Given the description of an element on the screen output the (x, y) to click on. 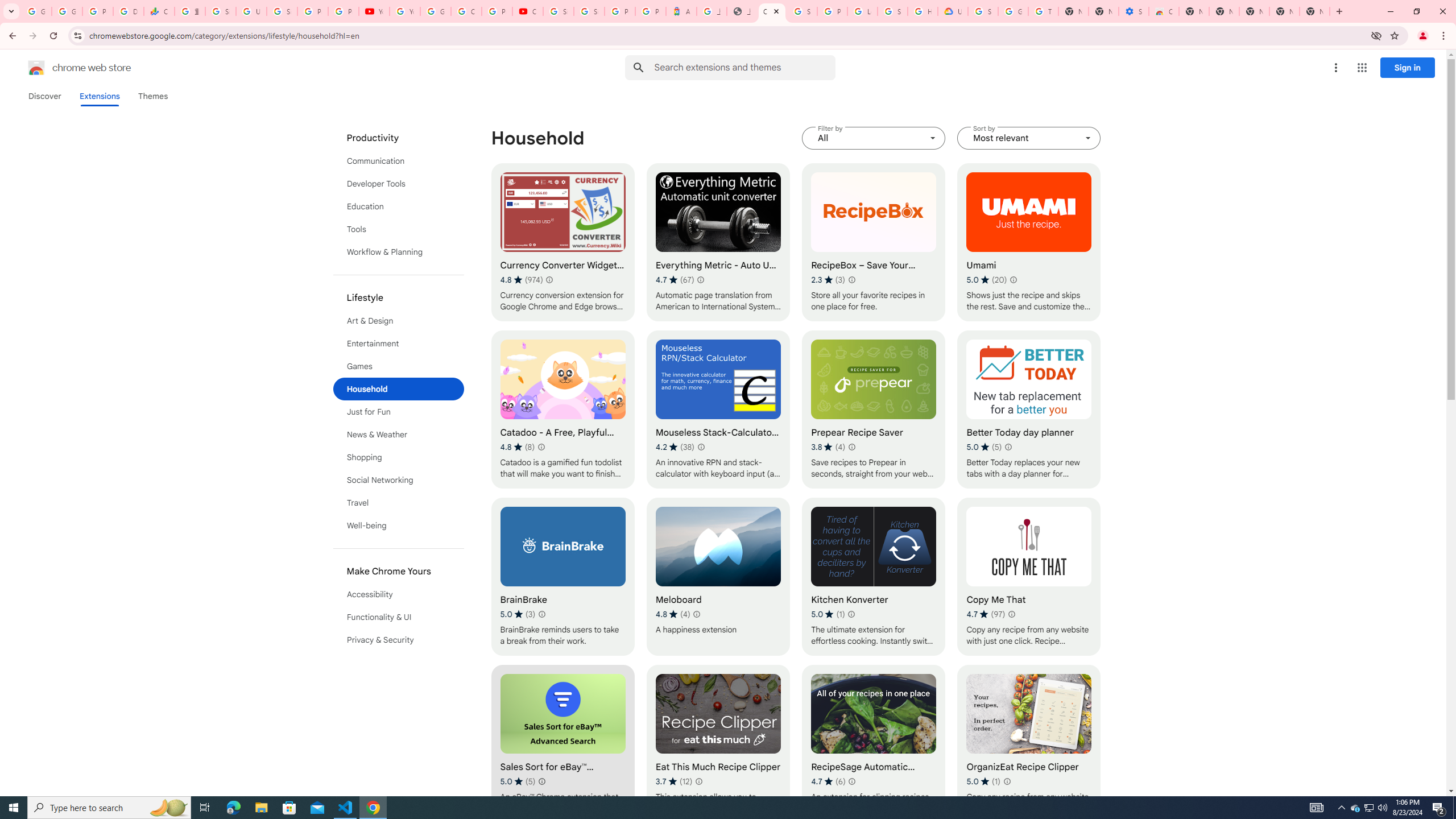
Currencies - Google Finance (158, 11)
Sign in - Google Accounts (982, 11)
Travel (398, 502)
Google Workspace Admin Community (36, 11)
Sort by Most relevant (1028, 137)
Average rating 4.7 out of 5 stars. 67 ratings. (674, 279)
Sign in - Google Accounts (801, 11)
Tools (398, 228)
Workflow & Planning (398, 251)
Art & Design (398, 320)
